Given the description of an element on the screen output the (x, y) to click on. 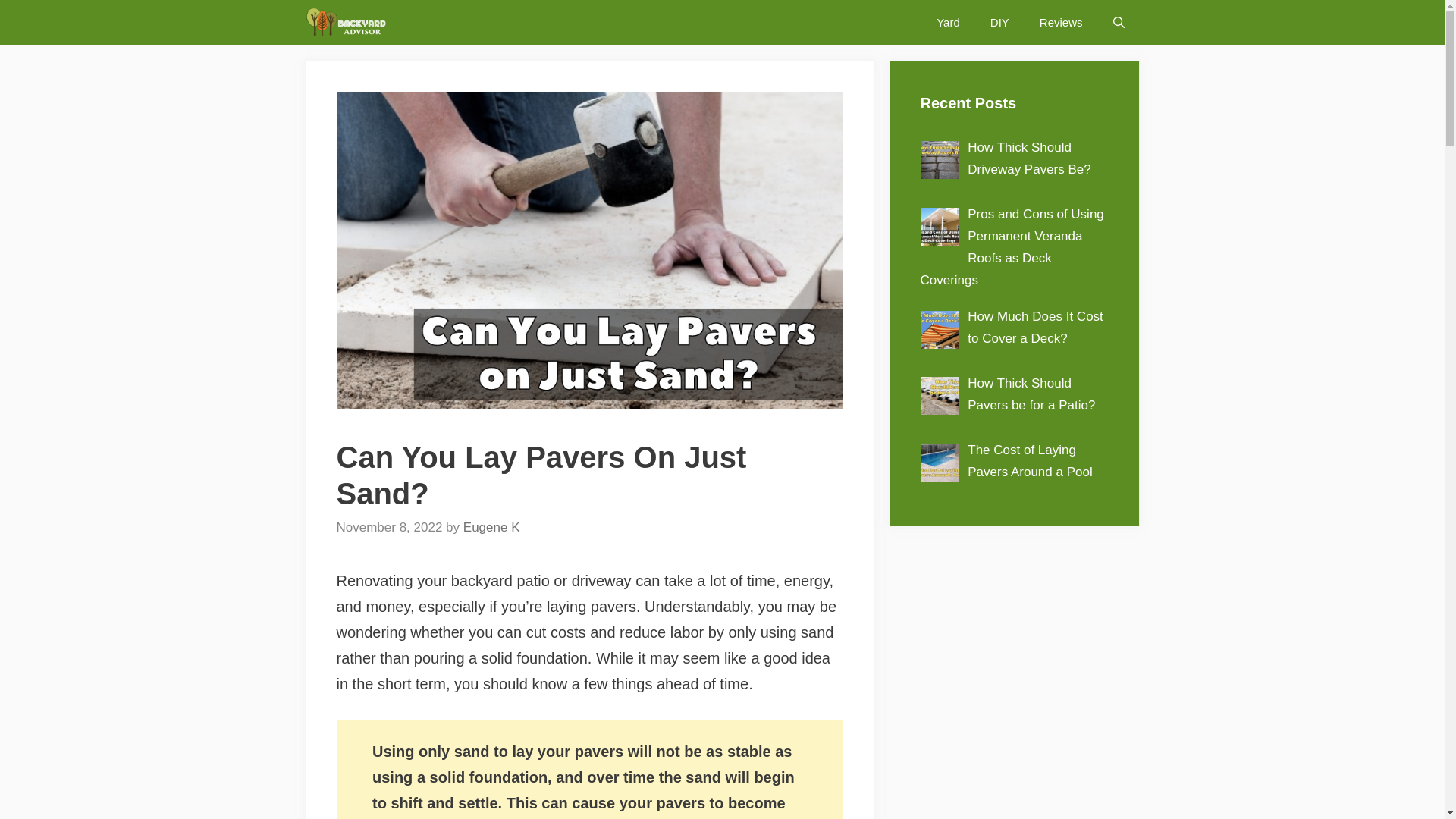
How Thick Should Pavers be for a Patio? (1031, 393)
How Much Does It Cost to Cover a Deck? (1035, 327)
How Thick Should Driveway Pavers Be? (1029, 158)
Backyard Advisor (348, 22)
Yard (948, 22)
The Cost of Laying Pavers Around a Pool (1030, 461)
Eugene K (491, 527)
Backyard Advisor (344, 22)
Reviews (1061, 22)
View all posts by Eugene K (491, 527)
DIY (1000, 22)
